Given the description of an element on the screen output the (x, y) to click on. 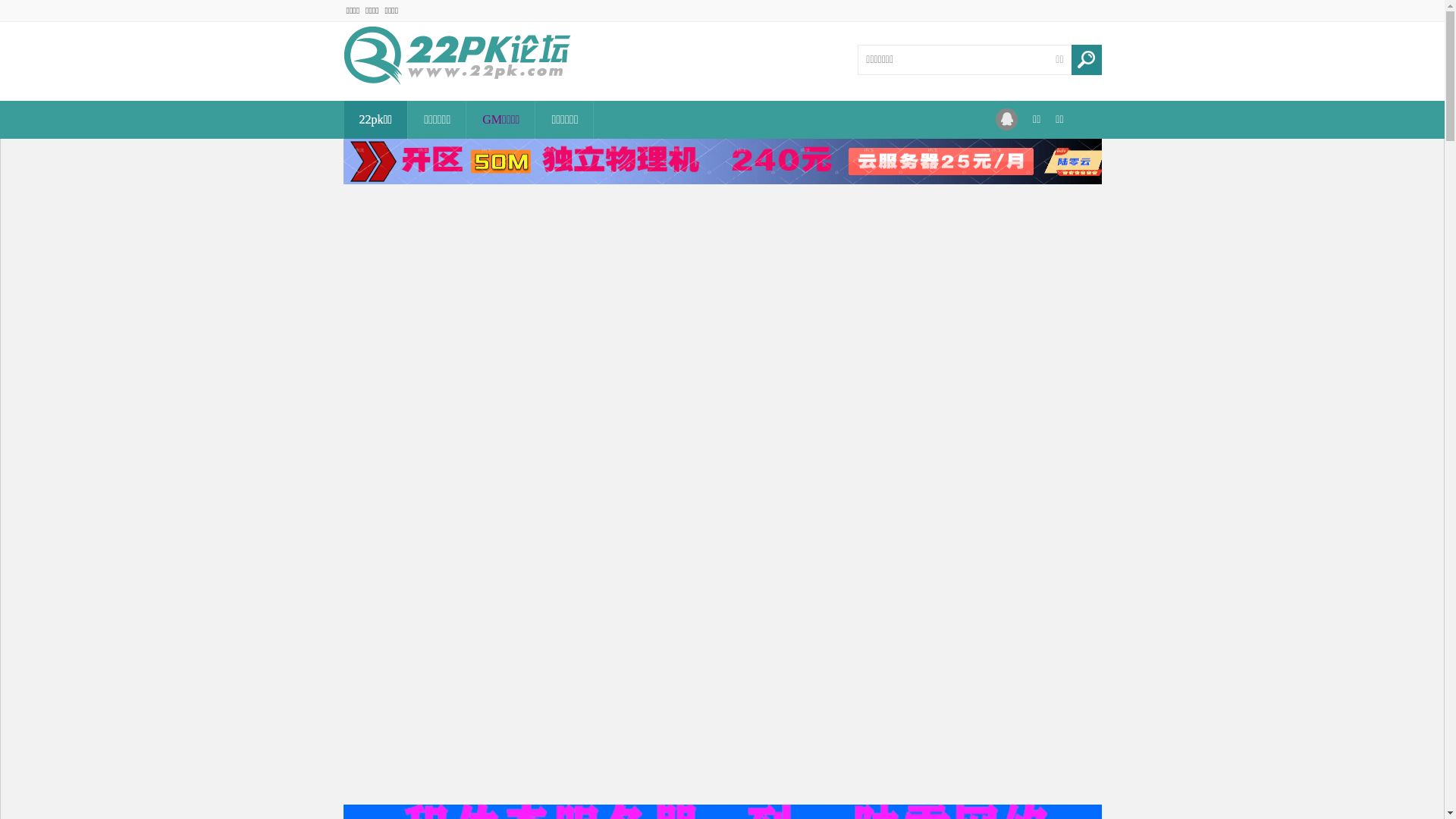
true Element type: text (1085, 59)
